Given the description of an element on the screen output the (x, y) to click on. 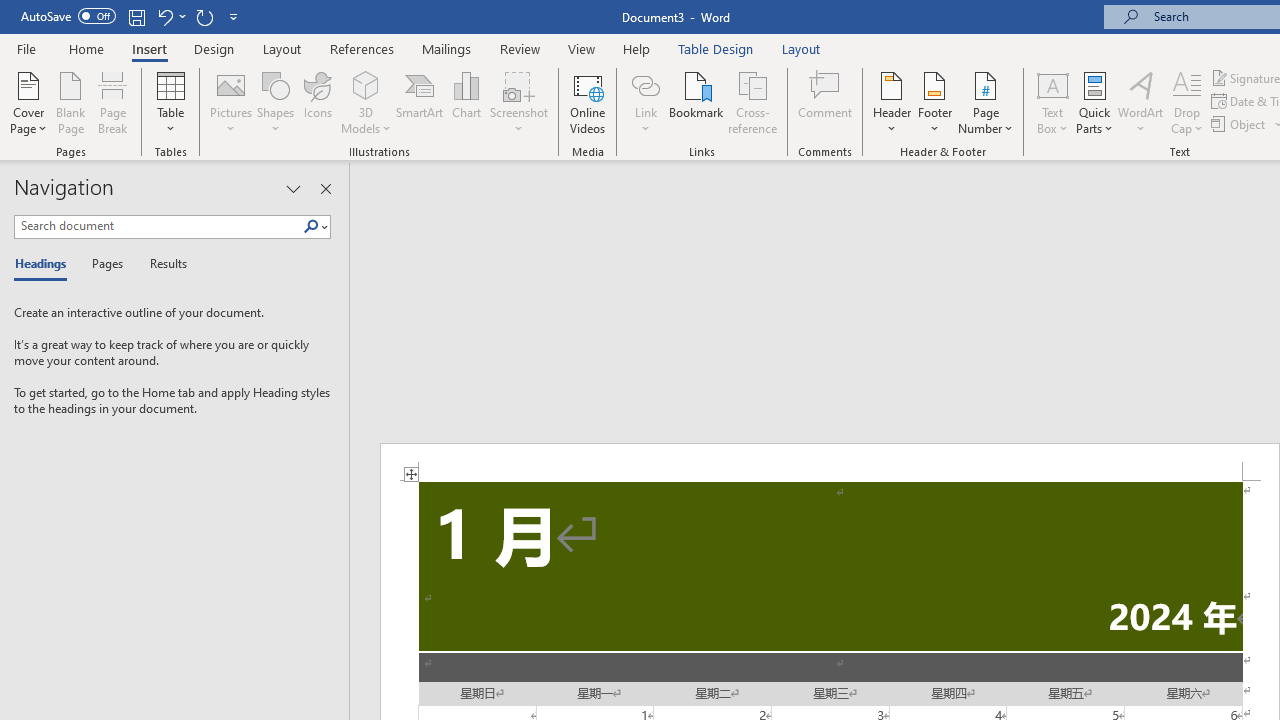
Class: NetUIImage (311, 226)
Screenshot (518, 102)
Link (645, 102)
Insert (149, 48)
Repeat Doc Close (204, 15)
Chart... (466, 102)
WordArt (1141, 102)
Icons (317, 102)
Link (645, 84)
File Tab (26, 48)
Layout (801, 48)
Object... (1240, 124)
